Given the description of an element on the screen output the (x, y) to click on. 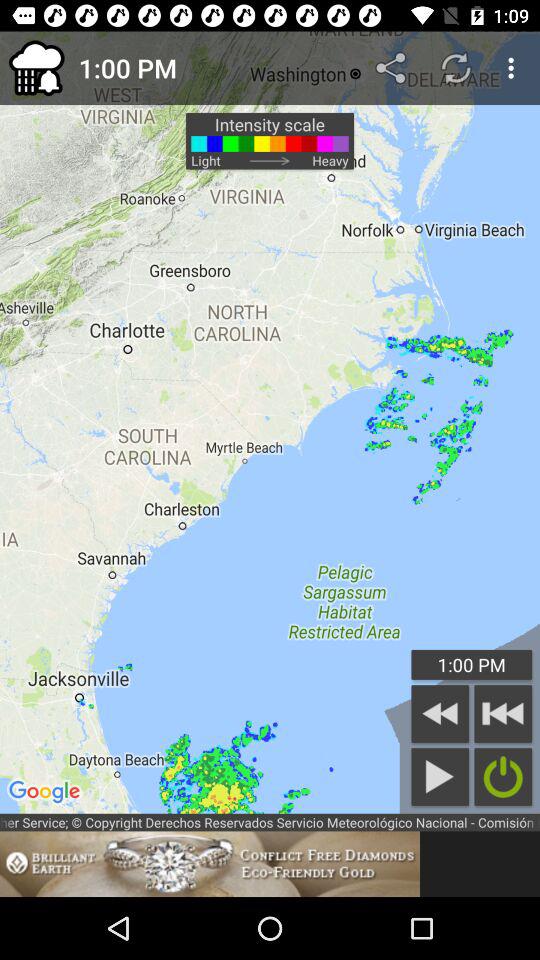
advertisements (210, 864)
